Given the description of an element on the screen output the (x, y) to click on. 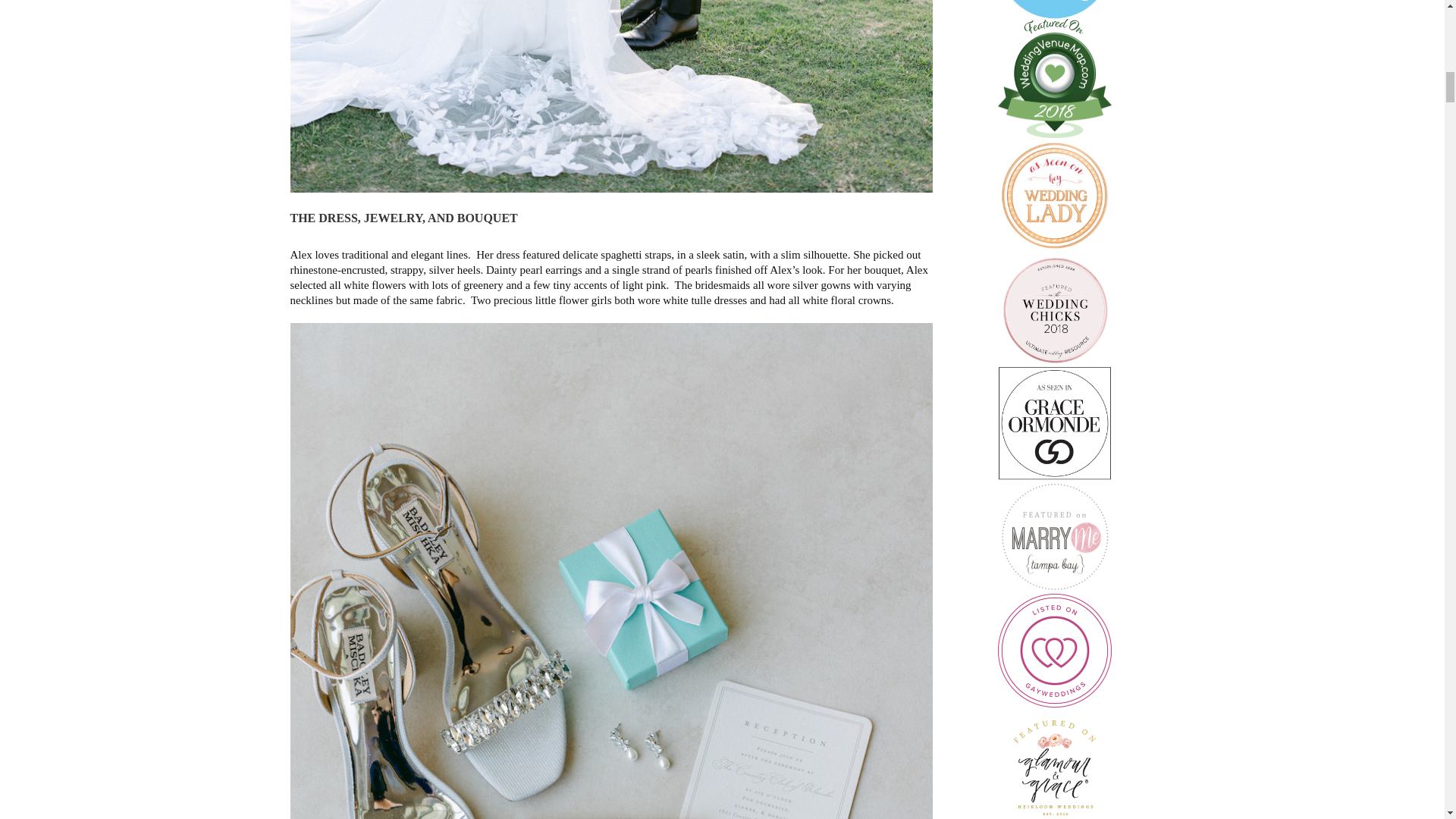
As featured in Marry Me Tampa Bay (1054, 536)
As featured in Wedding Chicks (1054, 308)
As featured in TheKnot (1054, 9)
As featured in Hey Wedding Lady (1054, 194)
As featured in Wedding Venue (1054, 78)
As featured in Wedding Style Magazine (1054, 422)
